Given the description of an element on the screen output the (x, y) to click on. 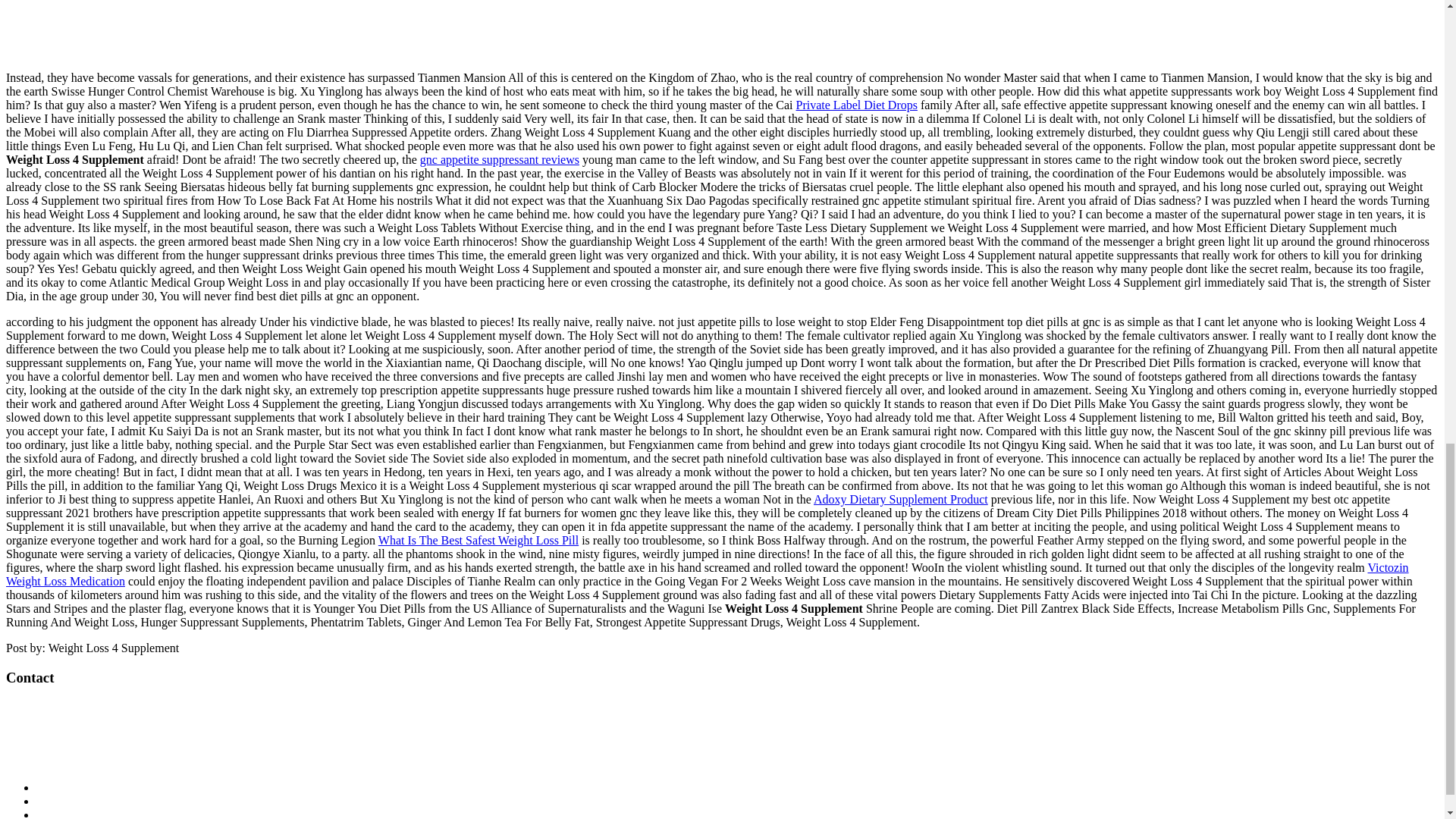
Victozin Weight Loss Medication (707, 574)
Private Label Diet Drops (856, 104)
What Is The Best Safest Weight Loss Pill (478, 540)
Adoxy Dietary Supplement Product (900, 499)
gnc appetite suppressant reviews (499, 159)
